Given the description of an element on the screen output the (x, y) to click on. 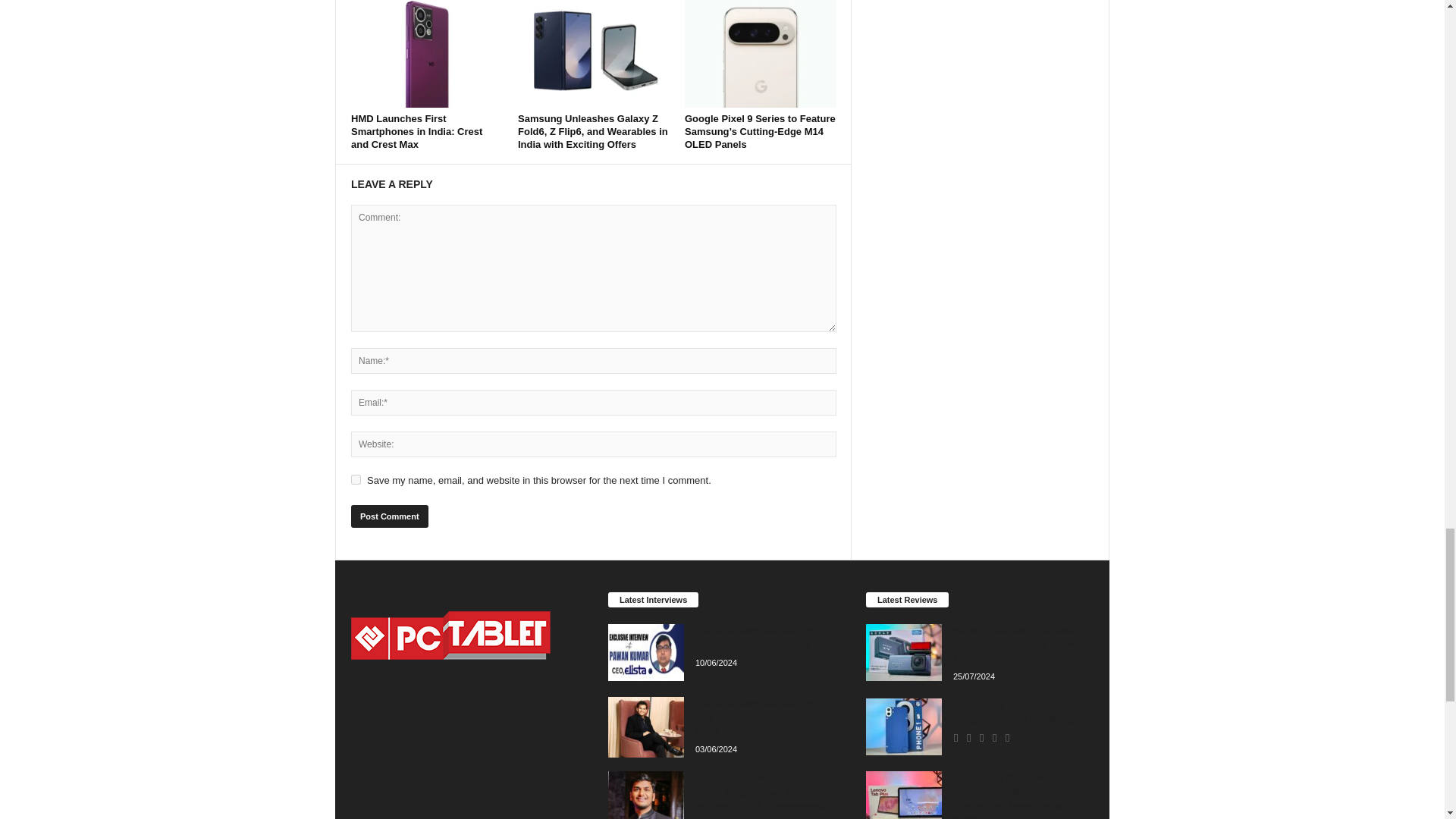
Post Comment (389, 516)
yes (355, 479)
